Given the description of an element on the screen output the (x, y) to click on. 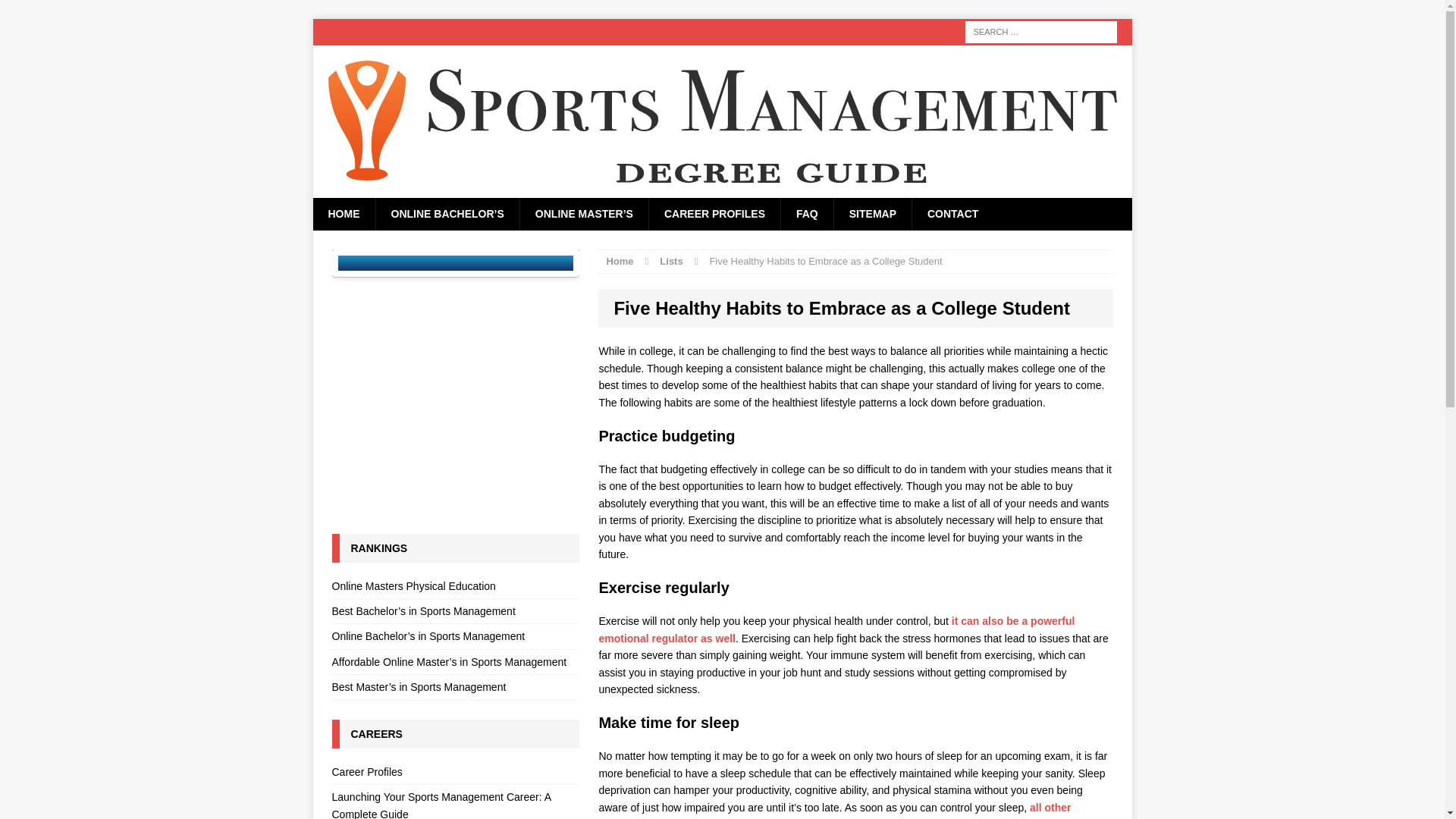
SITEMAP (871, 214)
FAQ (806, 214)
Sports Management Degree Guide (722, 121)
HOME (343, 214)
CAREER PROFILES (713, 214)
Online Masters Physical Education (455, 588)
Launching Your Sports Management Career: A Complete Guide (455, 801)
it can also be a powerful emotional regulator as well (836, 629)
Home (619, 260)
